Given the description of an element on the screen output the (x, y) to click on. 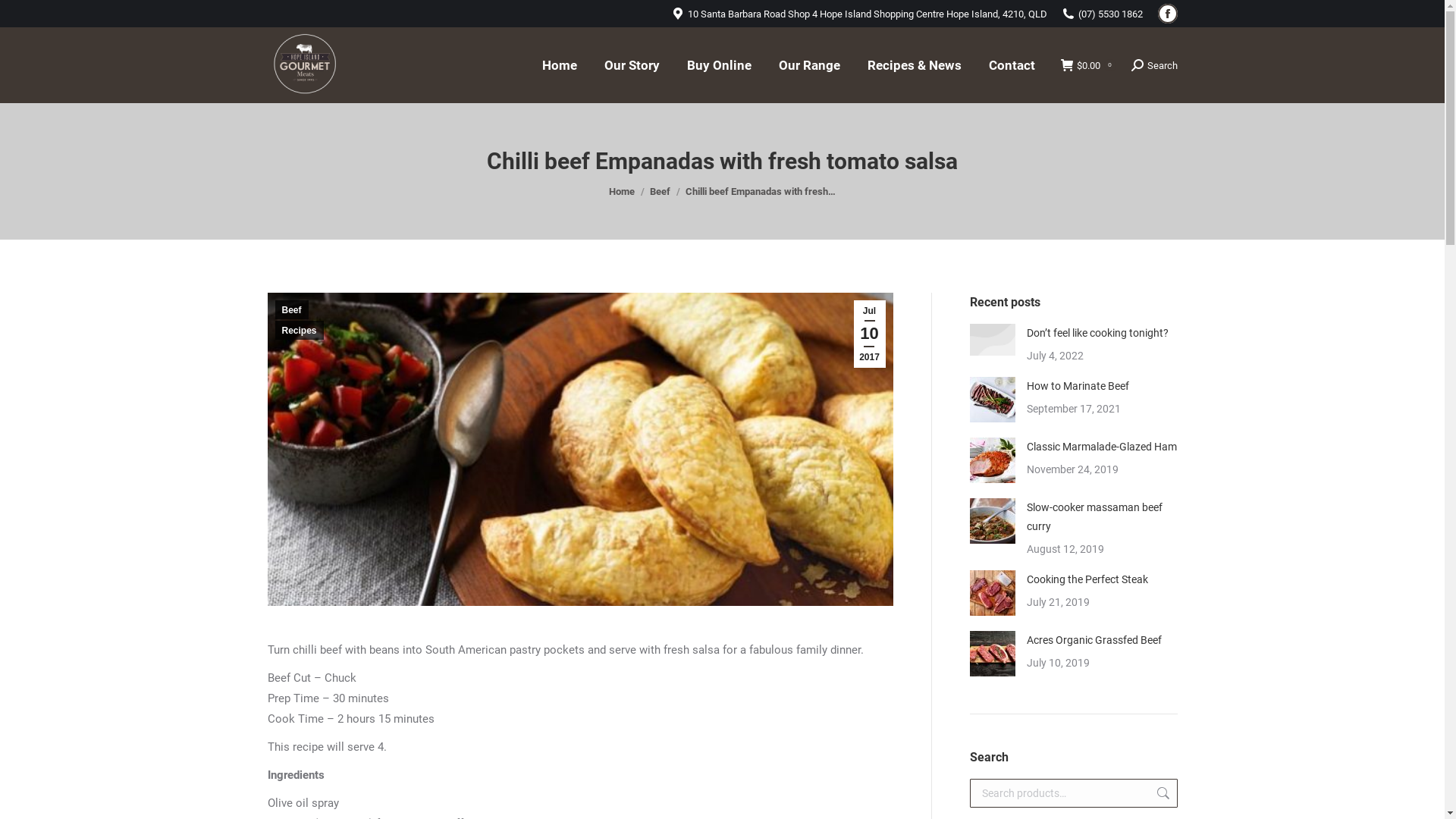
How to Marinate Beef Element type: text (1077, 385)
Search Element type: text (1161, 792)
Beef Element type: text (659, 191)
Recipes & News Element type: text (914, 64)
Cooking the Perfect Steak Element type: text (1087, 579)
Buy Online Element type: text (719, 64)
Recipes Element type: text (298, 329)
Facebook page opens in new window Element type: text (1166, 13)
Contact Element type: text (1011, 64)
Home Element type: text (558, 64)
Classic Marmalade-Glazed Ham Element type: text (1101, 446)
$0.00
0 Element type: text (1087, 65)
Home Element type: text (621, 191)
Acres Organic Grassfed Beef Element type: text (1093, 639)
Beef Element type: text (290, 309)
Slow-cooker massaman beef curry Element type: text (1101, 517)
Our Range Element type: text (808, 64)
chilli-beef-empanadas-with-fresh-tomato-salsa Element type: hover (579, 448)
Jul
10
2017 Element type: text (869, 333)
Our Story Element type: text (631, 64)
Search Element type: text (1154, 65)
Go! Element type: text (23, 16)
